Given the description of an element on the screen output the (x, y) to click on. 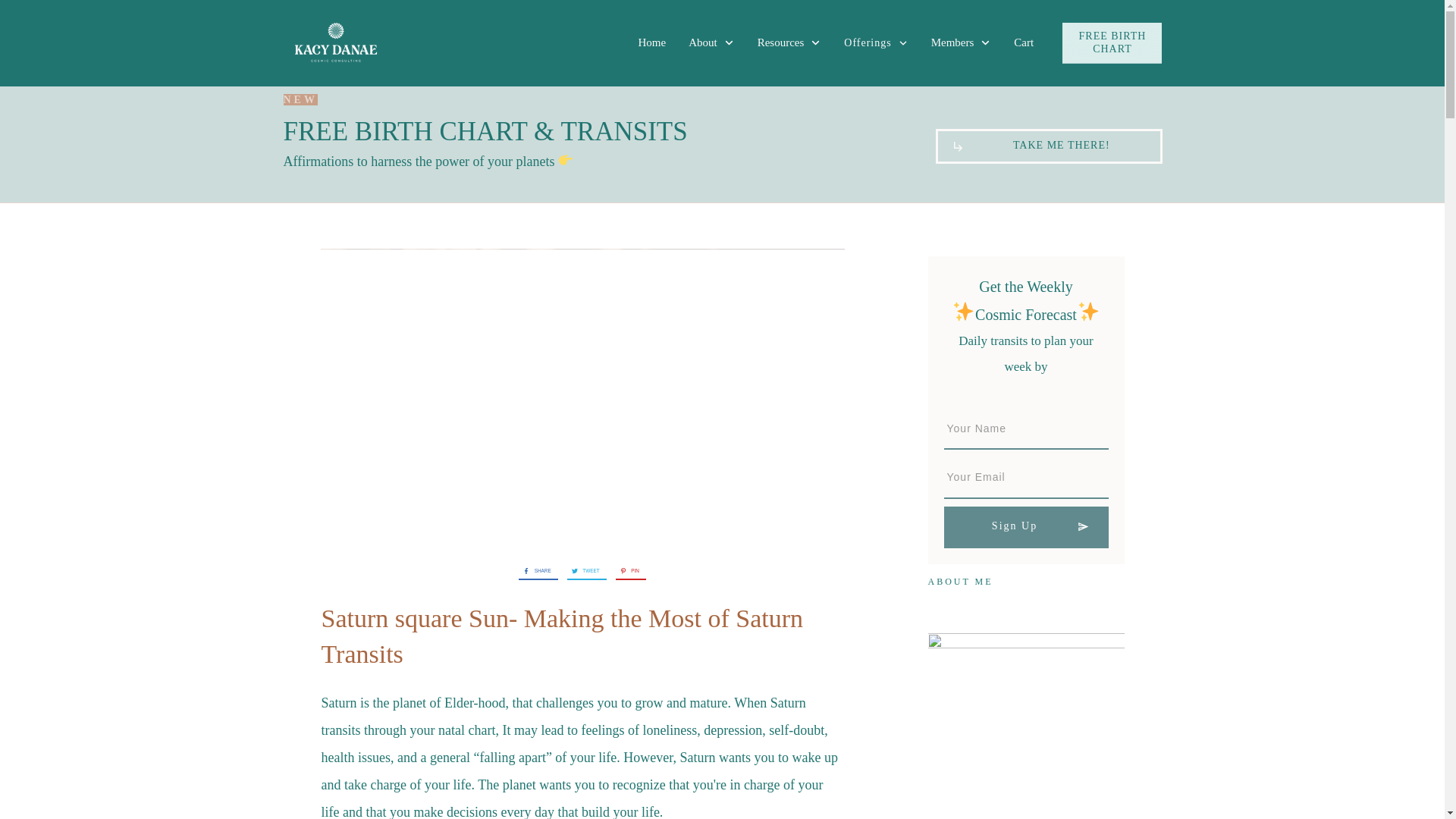
Home (651, 42)
PIN (627, 570)
SHARE (534, 570)
Cart (1023, 42)
instagramside (1034, 726)
Resources (789, 42)
Sign Up (1025, 526)
About (711, 42)
TWEET (583, 570)
